Given the description of an element on the screen output the (x, y) to click on. 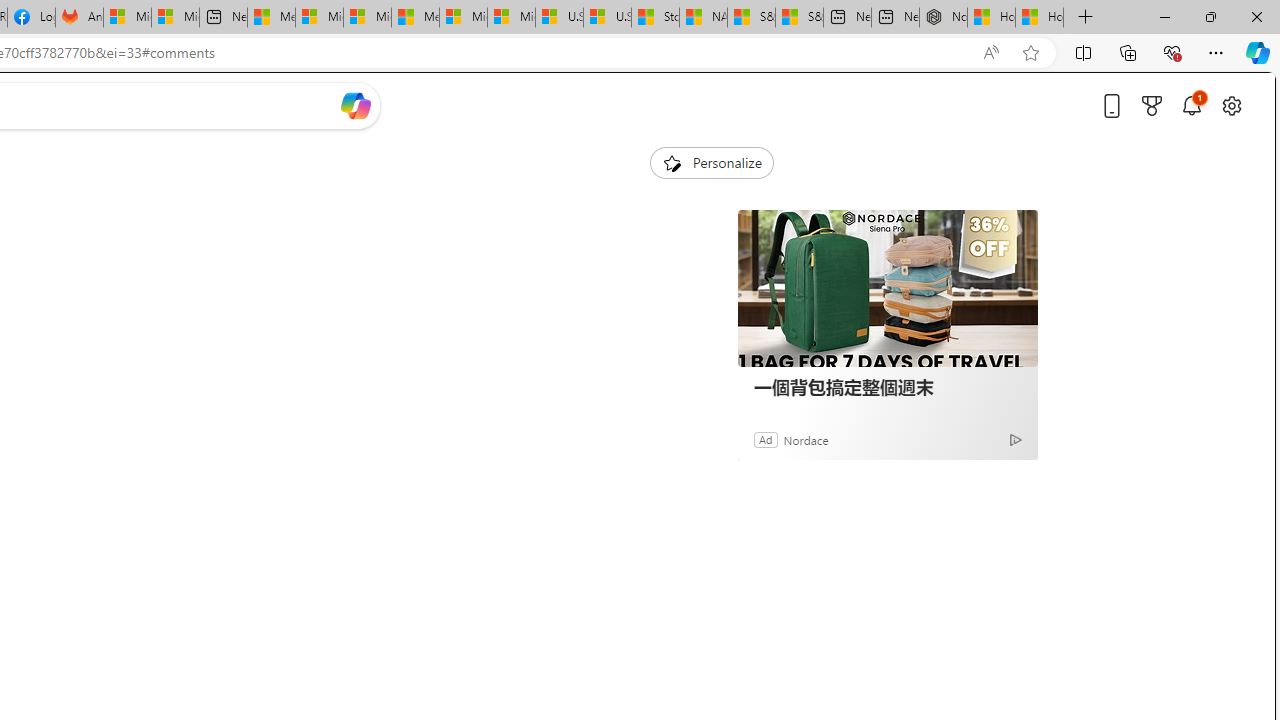
To get missing image descriptions, open the context menu. (671, 162)
S&P 500, Nasdaq end lower, weighed by Nvidia dip | Watch (799, 17)
Microsoft account | Privacy (319, 17)
